Given the description of an element on the screen output the (x, y) to click on. 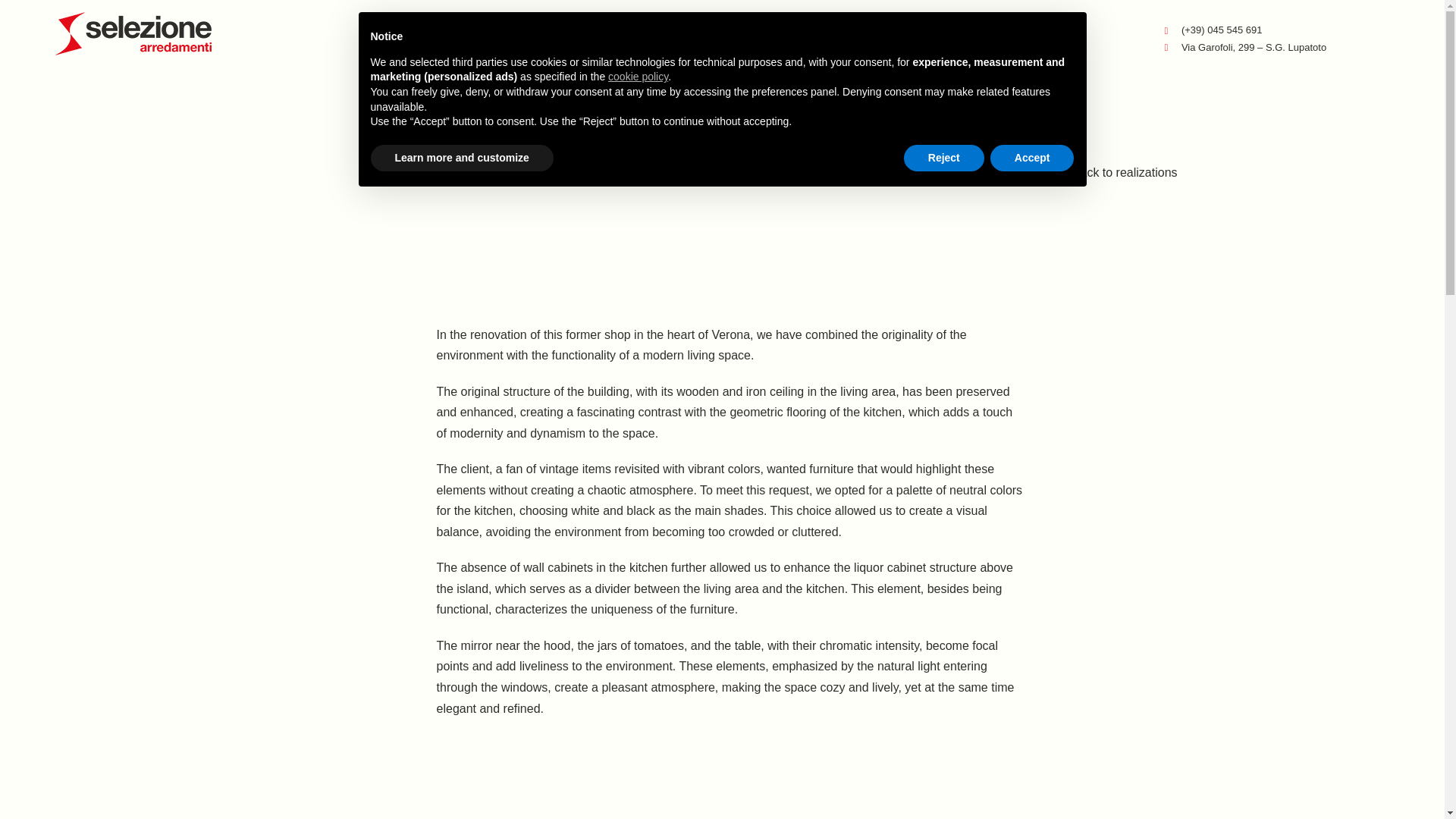
Back to realizations (1101, 172)
Who we are (684, 35)
Realizations (598, 35)
